Given the description of an element on the screen output the (x, y) to click on. 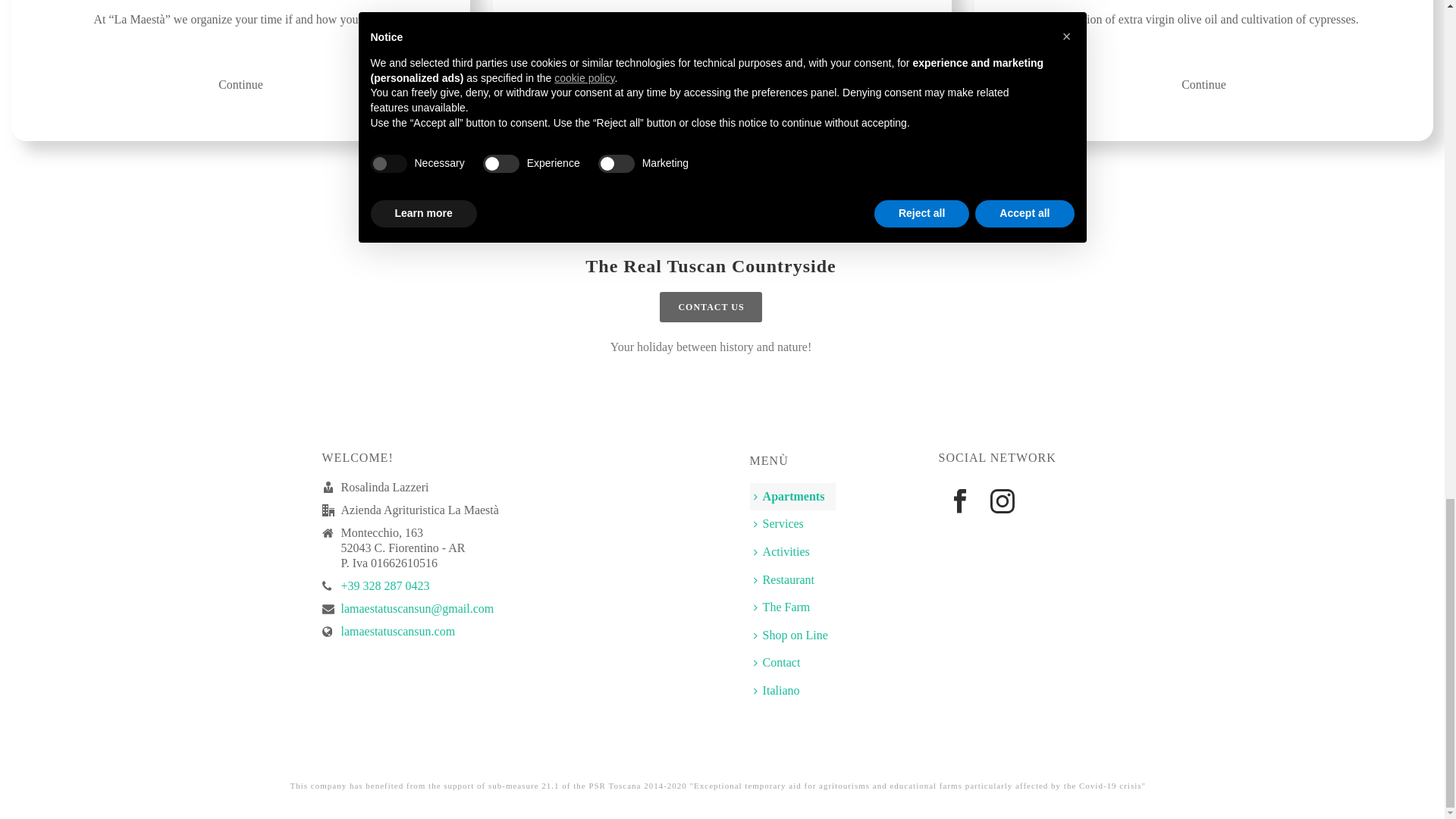
Services (782, 524)
lamaestatuscansun.com (397, 631)
Restaurant (787, 580)
Activities (785, 552)
Apartments (792, 497)
Shop on Line (794, 635)
CONTACT US (710, 306)
Continue (240, 83)
CONTACT US (710, 306)
The Farm (785, 607)
